Given the description of an element on the screen output the (x, y) to click on. 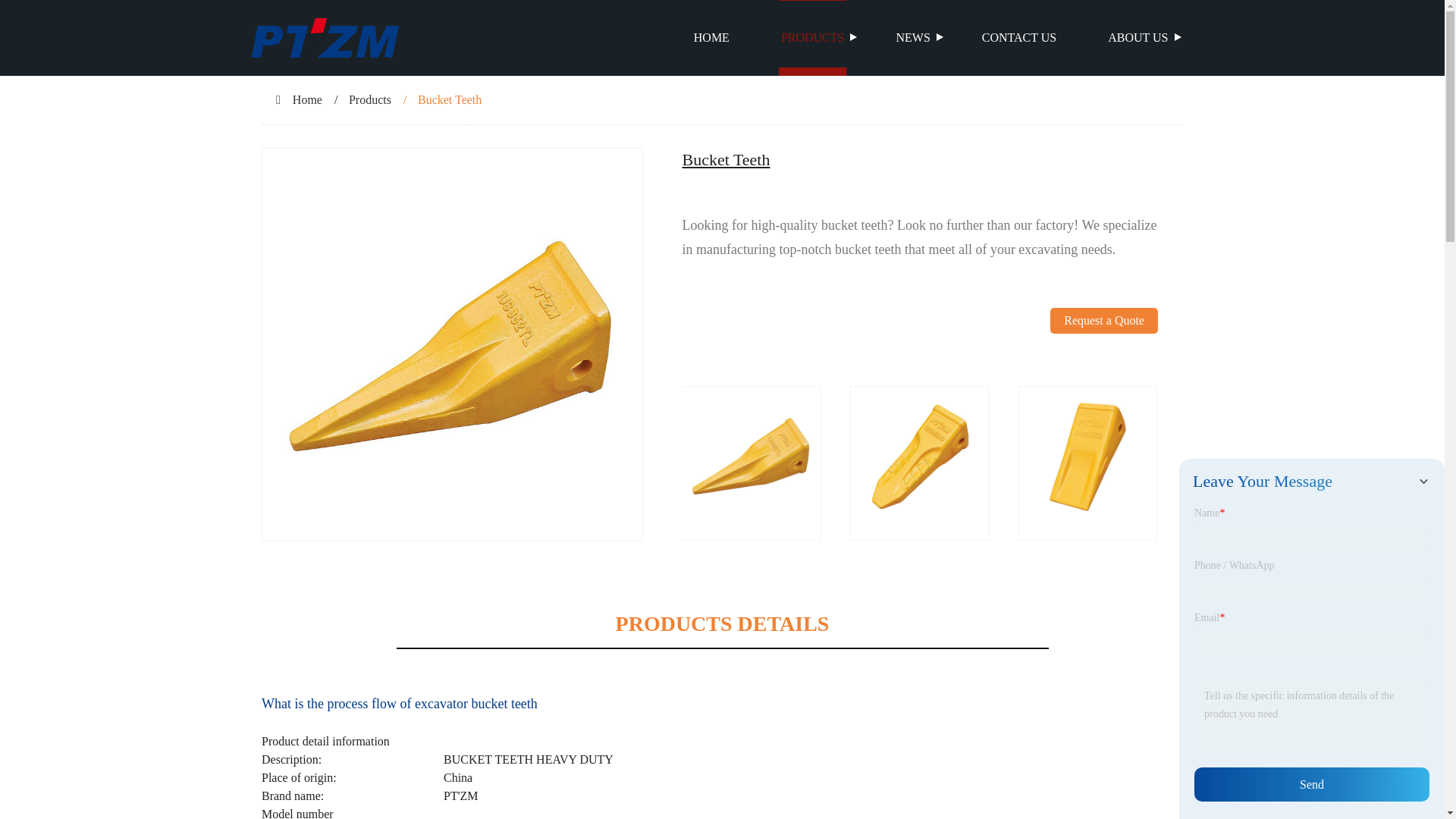
CONTACT US (1018, 38)
NEWS (912, 38)
Home (306, 99)
ABOUT US (1137, 38)
HOME (711, 38)
Request a Quote (1103, 346)
PRODUCTS (812, 38)
Products (370, 99)
